Given the description of an element on the screen output the (x, y) to click on. 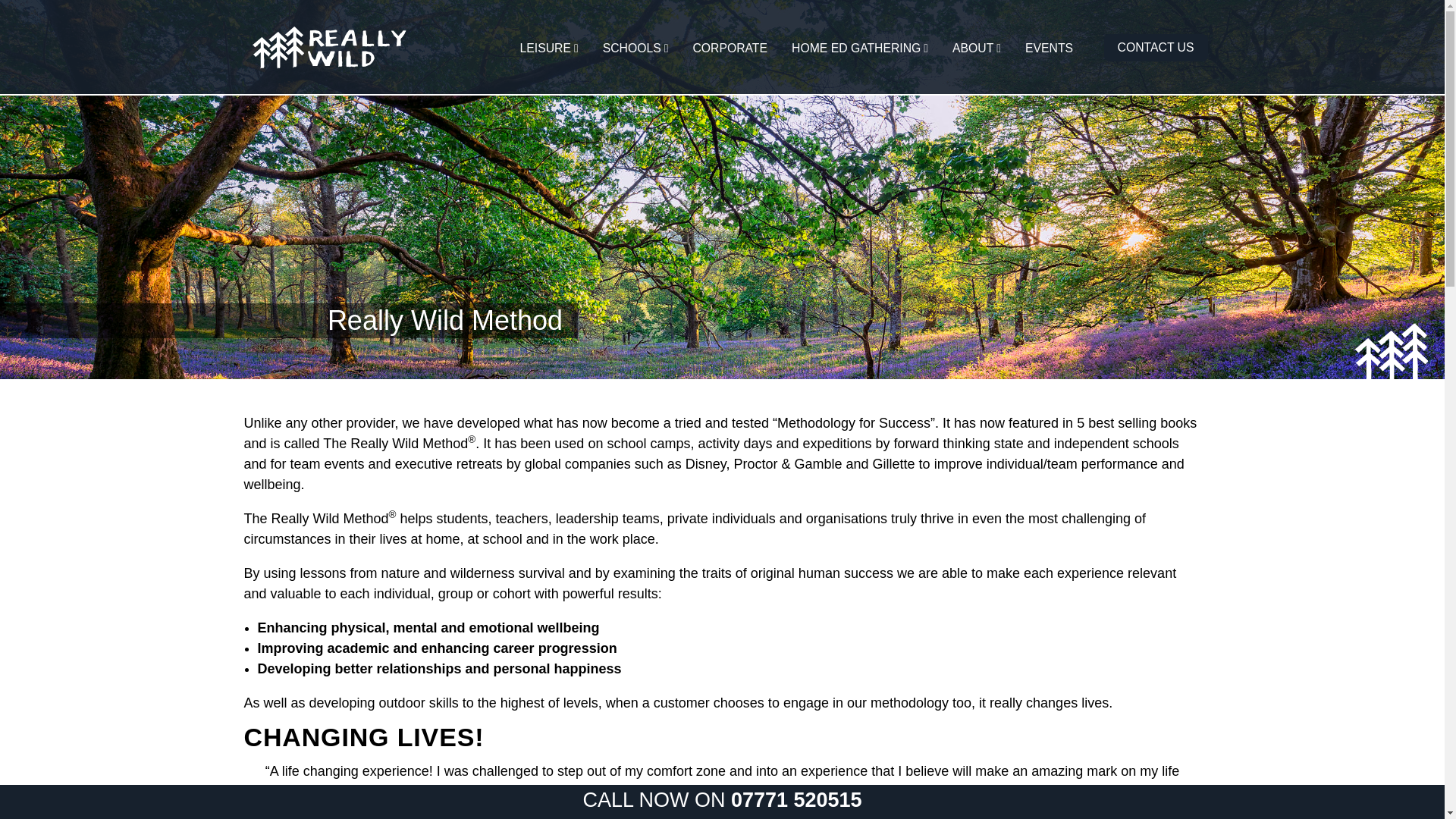
ABOUT (972, 48)
LEISURE (544, 48)
CORPORATE (730, 48)
CONTACT US (1155, 47)
HOME ED GATHERING (856, 48)
SCHOOLS (631, 48)
EVENTS (1049, 48)
